Given the description of an element on the screen output the (x, y) to click on. 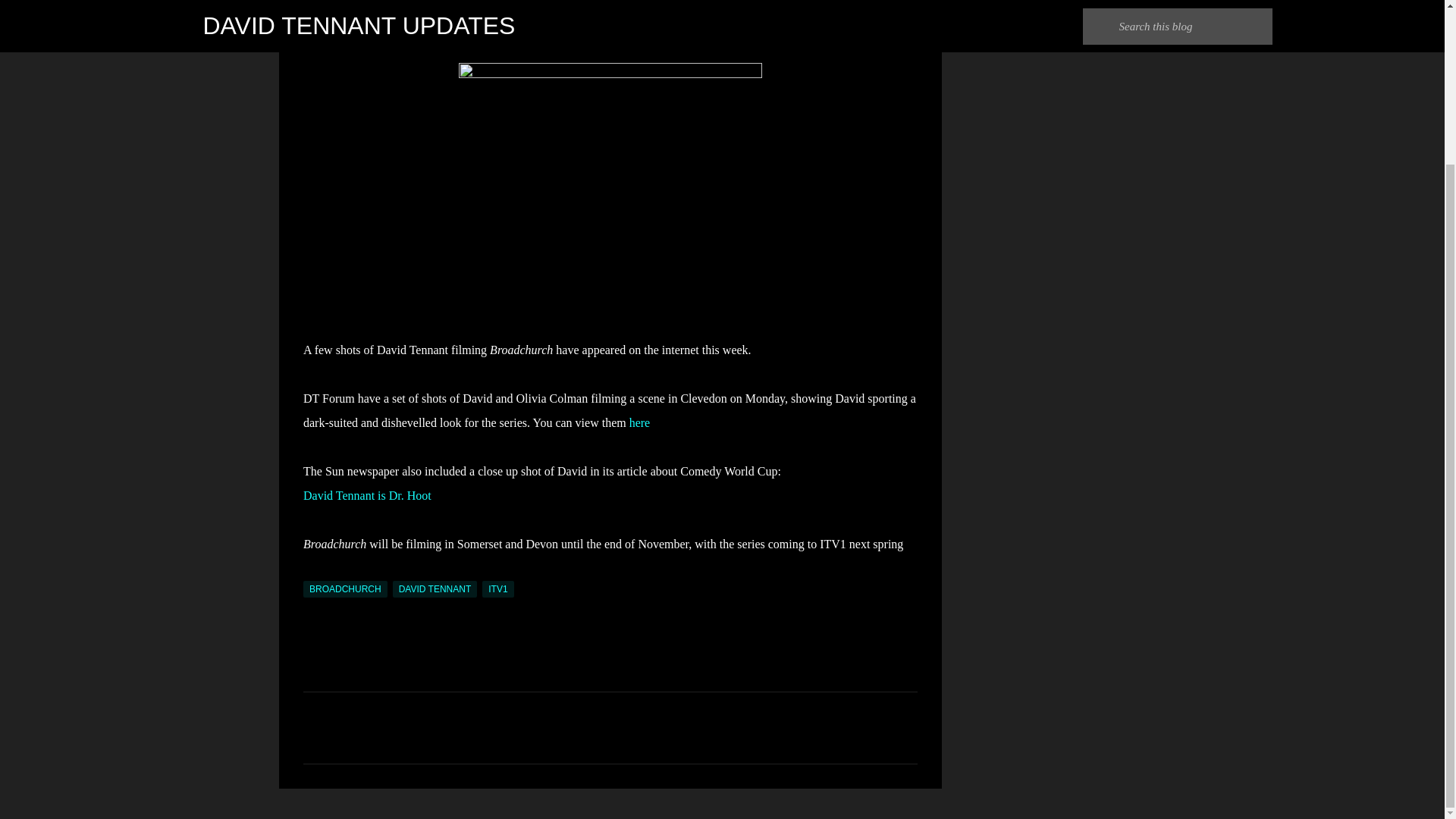
DAVID TENNANT (435, 588)
ITV1 (497, 588)
David Tennant is Dr. Hoot (366, 495)
here (639, 422)
Email Post (311, 571)
BROADCHURCH (344, 588)
